Given the description of an element on the screen output the (x, y) to click on. 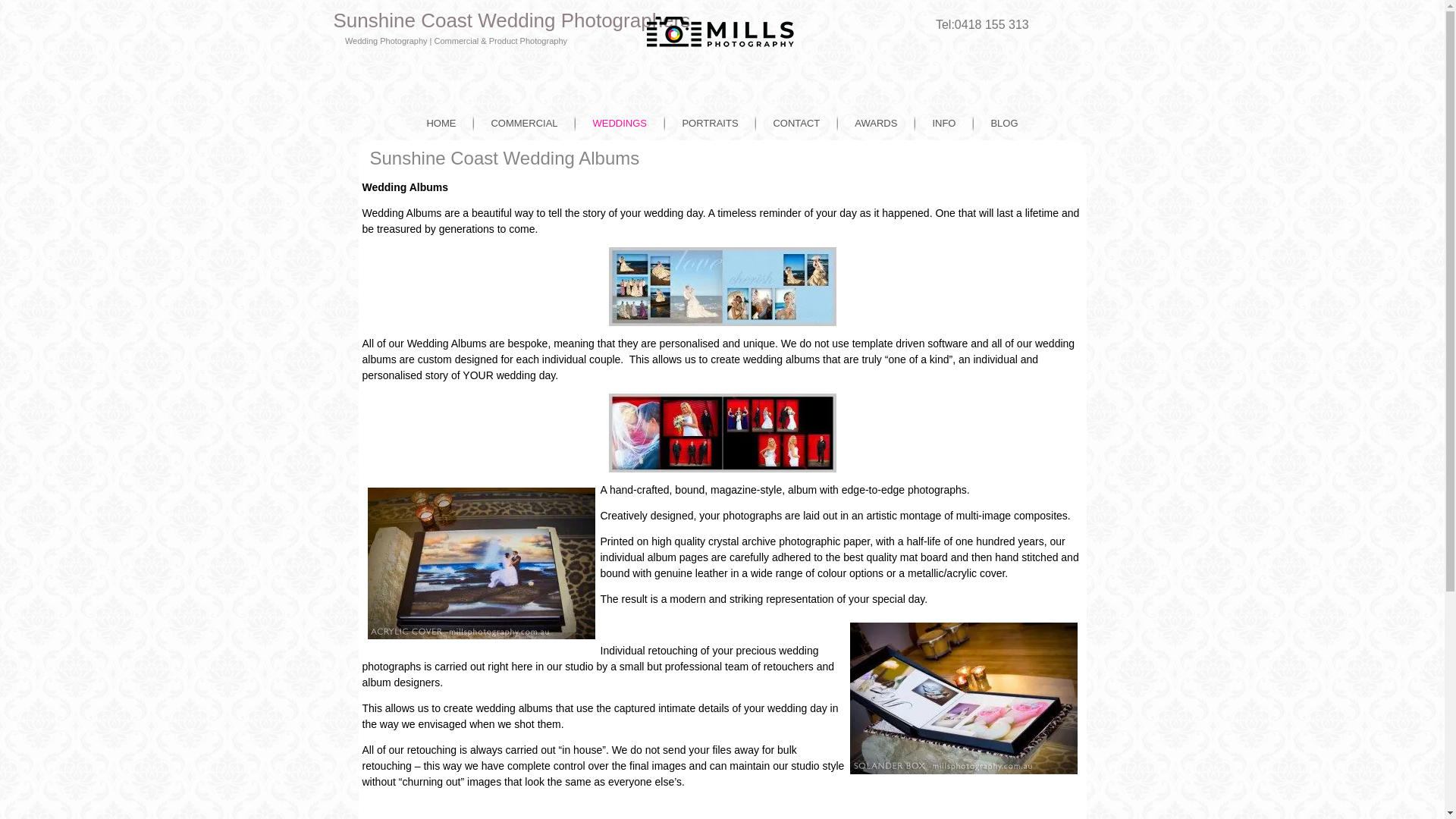
BLOG Element type: text (1003, 122)
Sunshine Coast Wedding Photographers Element type: text (511, 20)
WEDDINGS Element type: text (619, 122)
Bespoke Wedding Albums Element type: hover (480, 563)
CONTACT Element type: text (795, 122)
Bespoke Wedding Albums Element type: hover (962, 698)
Custom Wedding Albums Element type: hover (721, 432)
HOME Element type: text (440, 122)
INFO Element type: text (943, 122)
PORTRAITS Element type: text (709, 122)
COMMERCIAL Element type: text (523, 122)
AWARDS Element type: text (875, 122)
Magazine Style Wedding Album Element type: hover (721, 286)
